Given the description of an element on the screen output the (x, y) to click on. 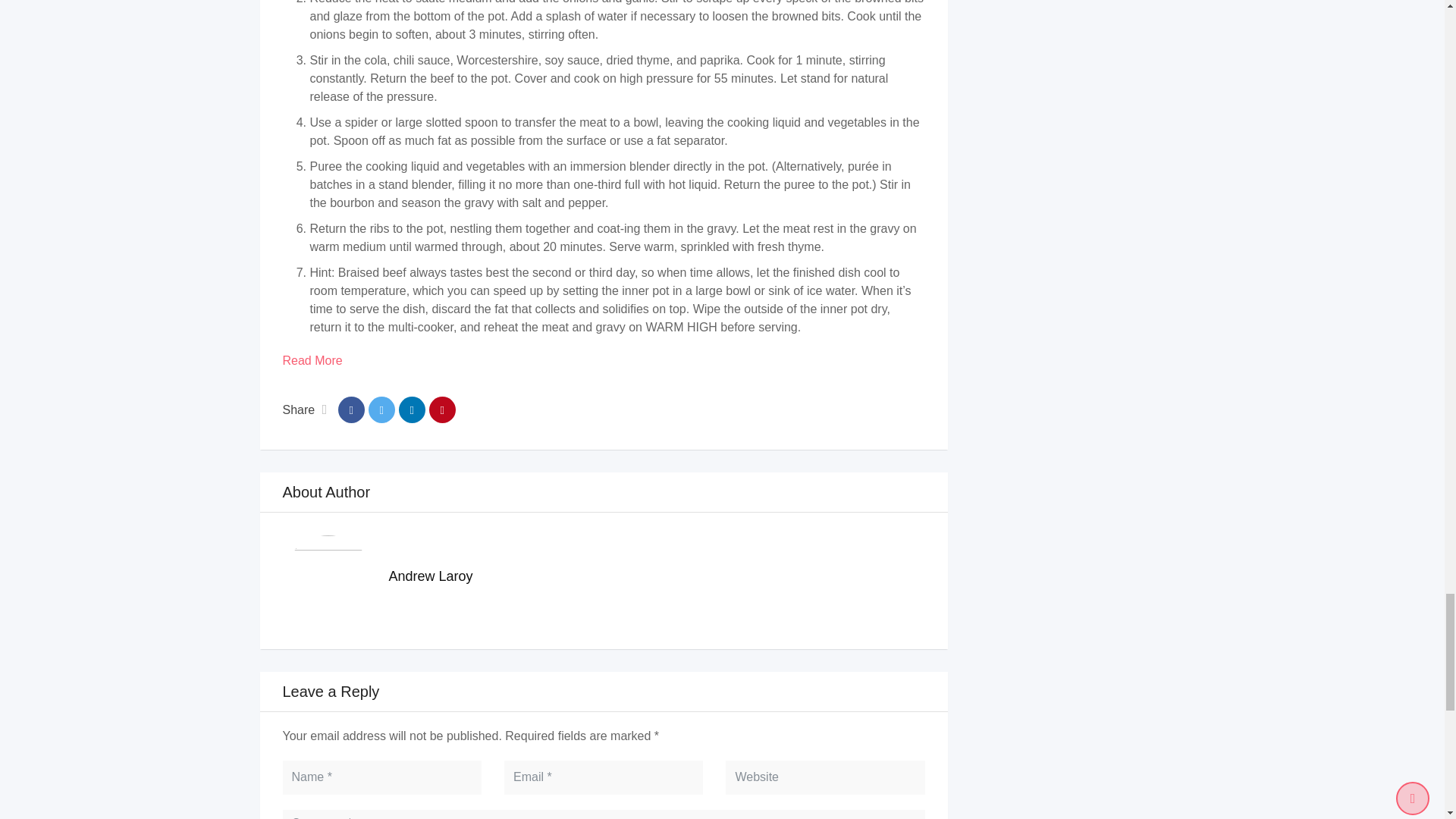
Read More (312, 359)
Posts by Andrew Laroy (429, 575)
Andrew Laroy (429, 575)
